Given the description of an element on the screen output the (x, y) to click on. 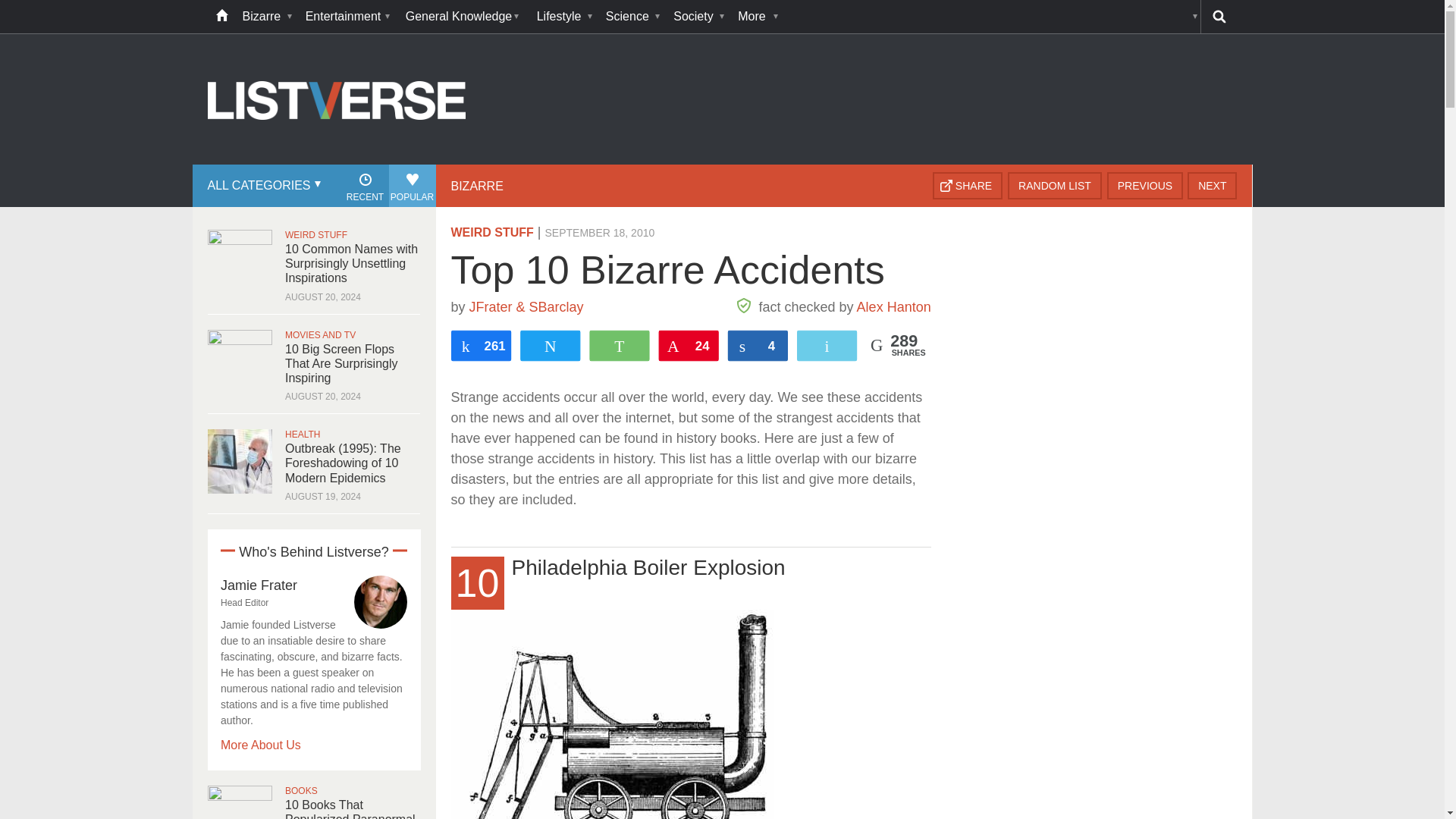
Bizarre (266, 16)
Go to Home (336, 162)
Recent (364, 185)
Entertainment (347, 16)
Share (968, 185)
More (756, 16)
Lifestyle (563, 16)
General Knowledge (462, 16)
Society (697, 16)
All Categories (262, 185)
